Given the description of an element on the screen output the (x, y) to click on. 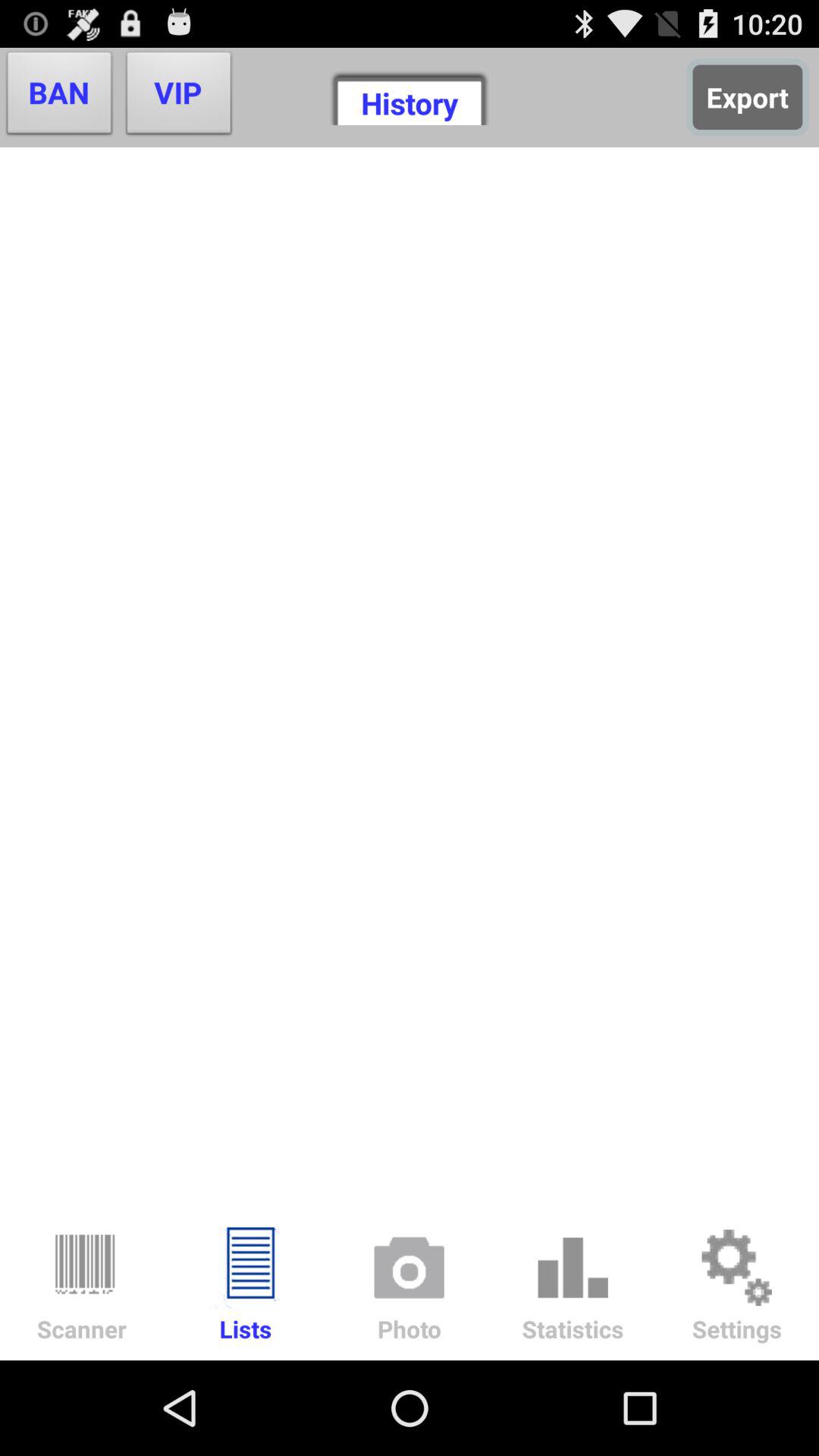
turn on icon at the top right corner (747, 96)
